Given the description of an element on the screen output the (x, y) to click on. 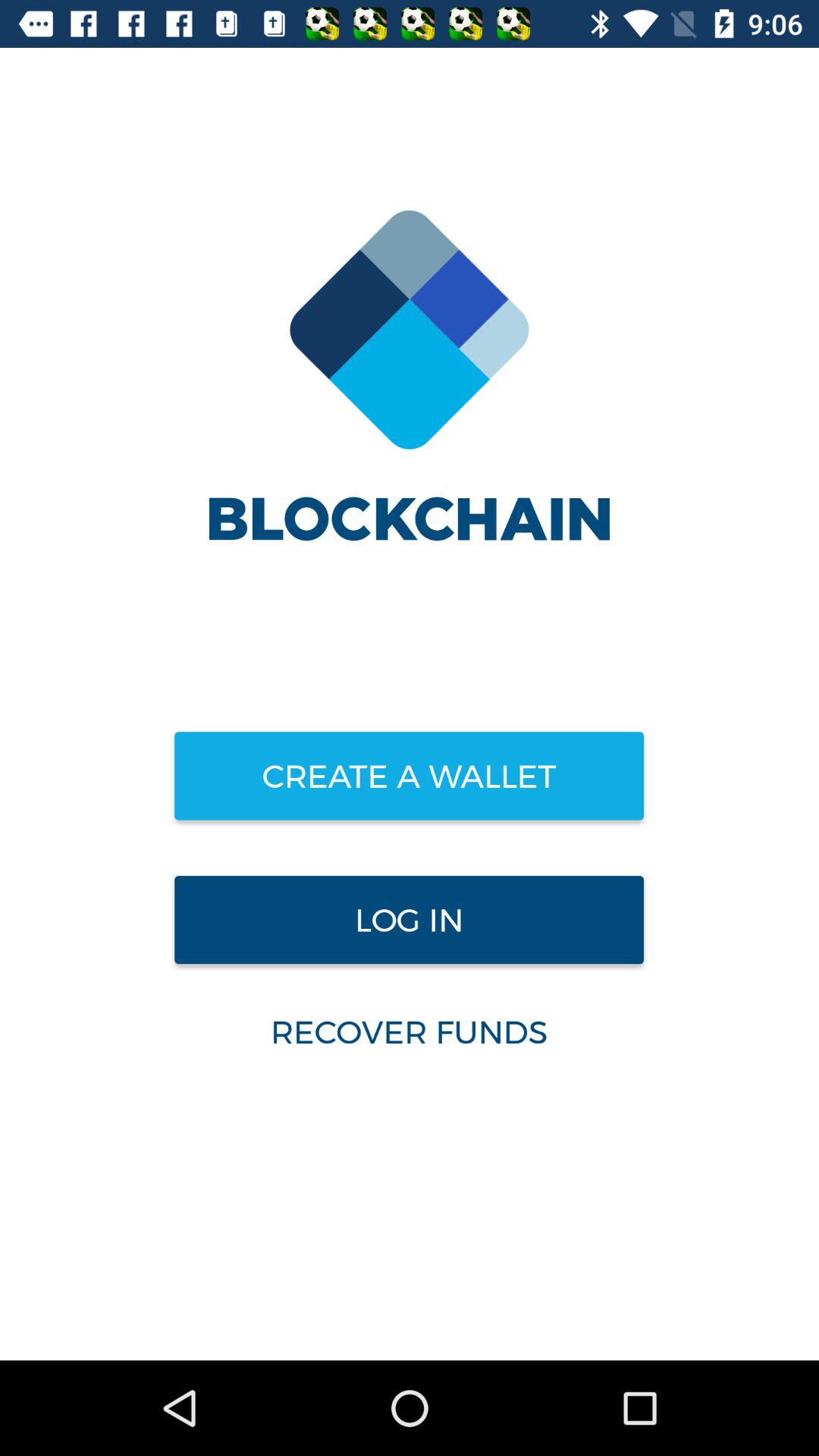
open the recover funds icon (408, 1031)
